Given the description of an element on the screen output the (x, y) to click on. 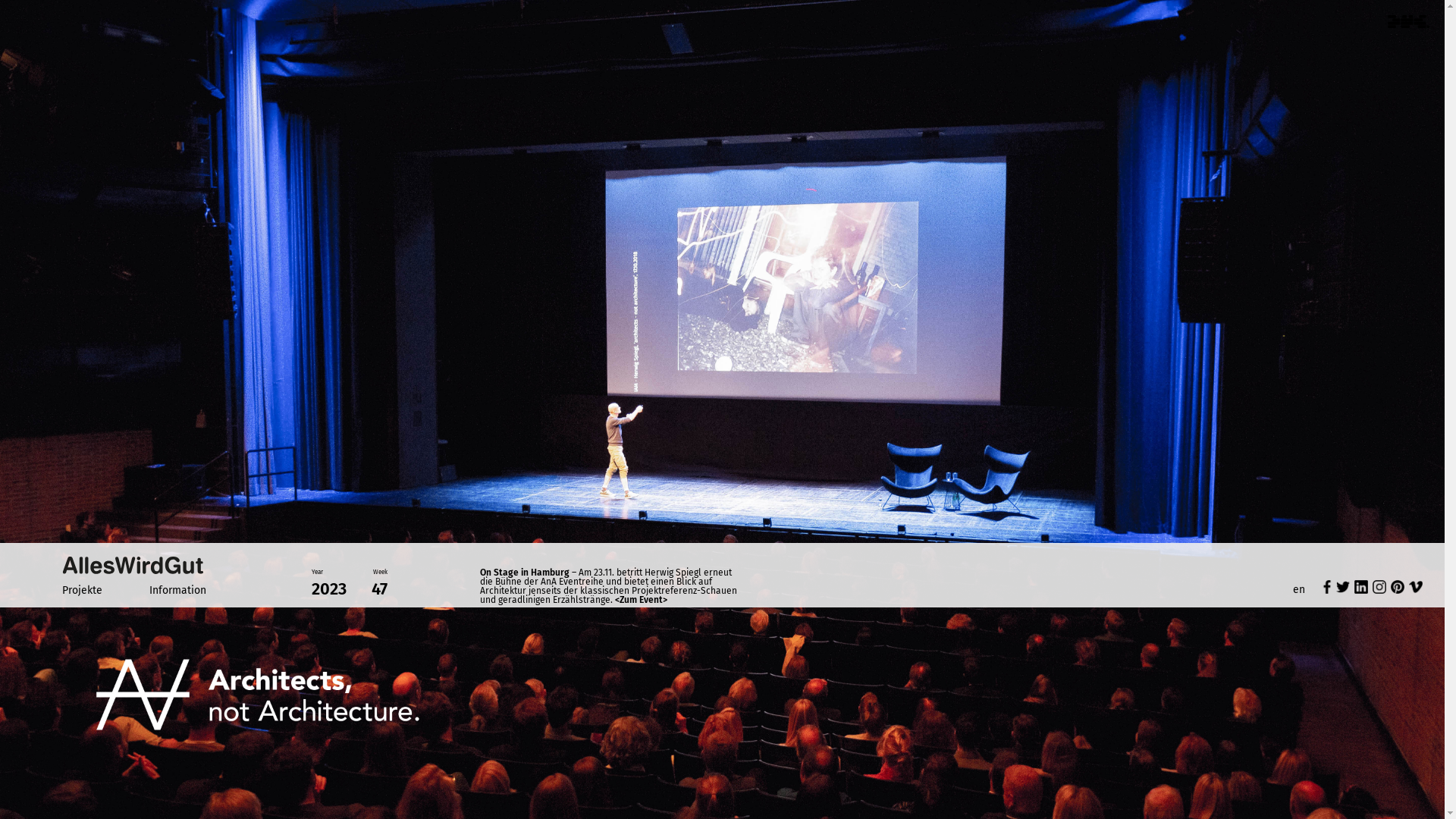
AllesWirdGut Element type: hover (133, 564)
en Element type: text (1298, 589)
<Zum Event> Element type: text (641, 599)
Information Element type: text (177, 589)
Projekte Element type: text (82, 589)
